Given the description of an element on the screen output the (x, y) to click on. 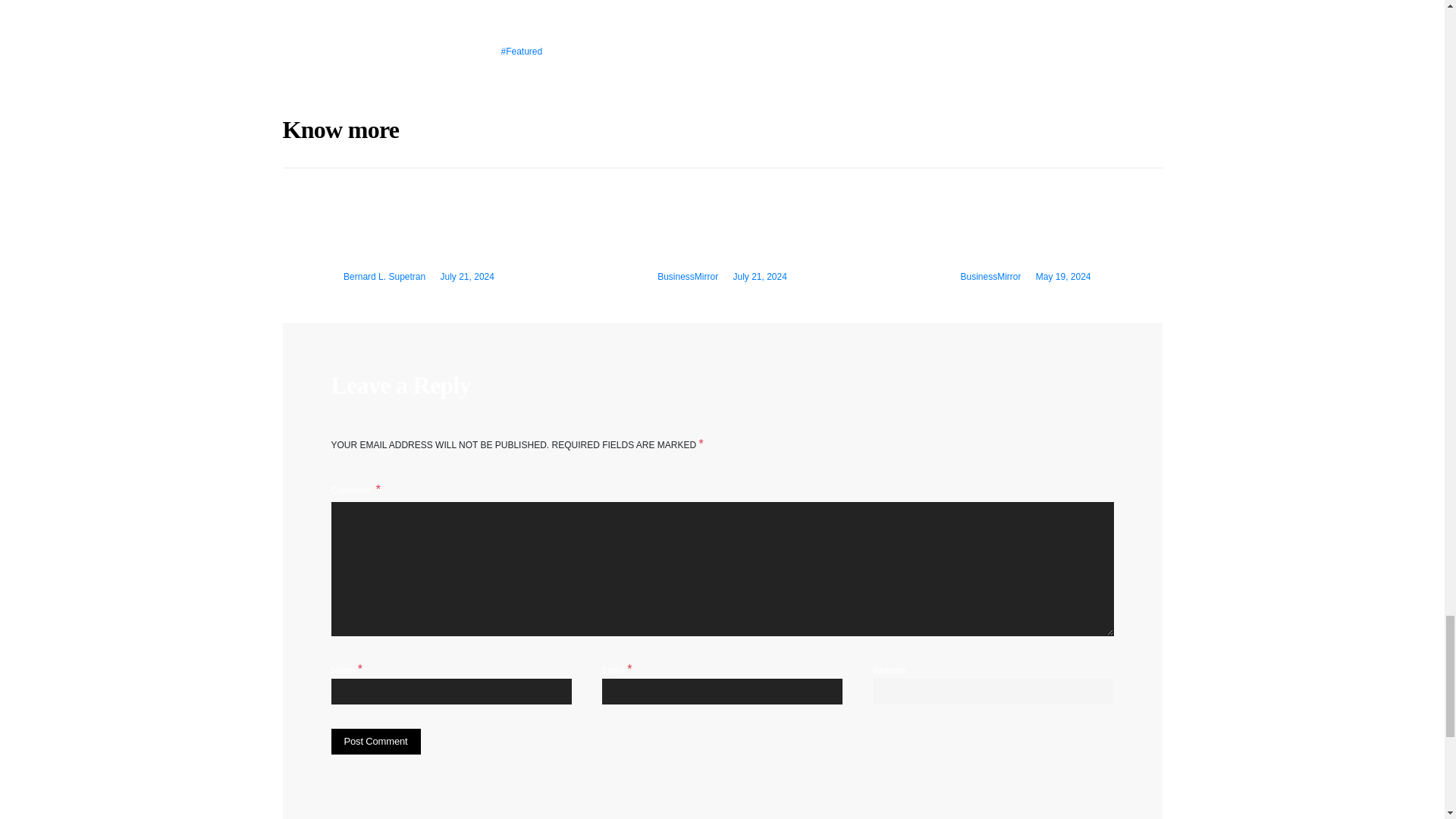
View all posts by BusinessMirror (989, 276)
View all posts by BusinessMirror (687, 276)
View all posts by Bernard L. Supetran (384, 276)
Post Comment (375, 741)
